Given the description of an element on the screen output the (x, y) to click on. 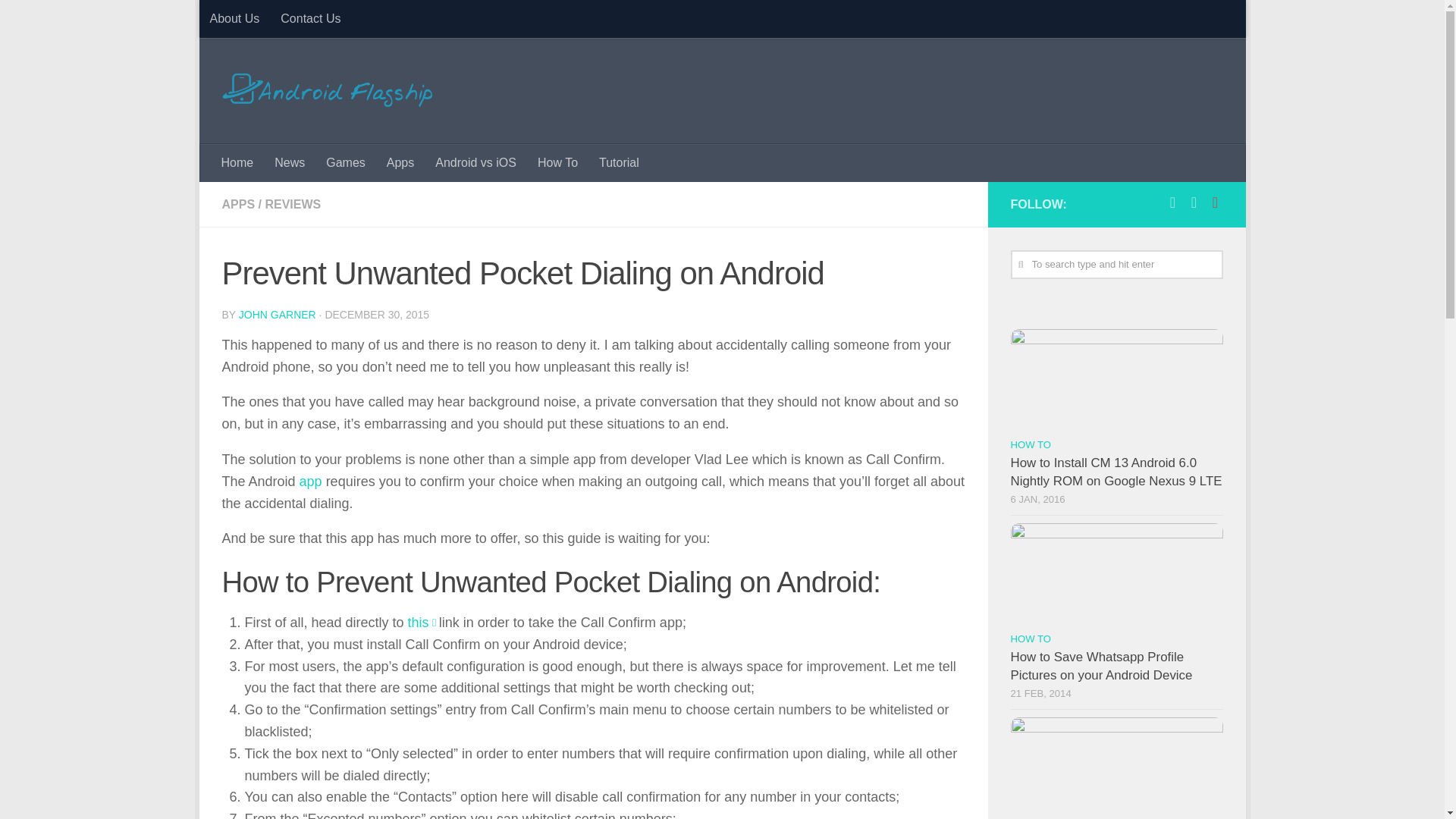
app (310, 481)
Contact Us (309, 18)
Apps (400, 162)
Posts by John Garner (276, 314)
REVIEWS (292, 204)
JOHN GARNER (276, 314)
APPS (237, 204)
Follow us on Twitter (1193, 201)
Android vs iOS (476, 162)
Games (345, 162)
To search type and hit enter (1116, 264)
Follow us on Email-o (1215, 201)
this (418, 622)
To search type and hit enter (1116, 264)
Tutorial (618, 162)
